Given the description of an element on the screen output the (x, y) to click on. 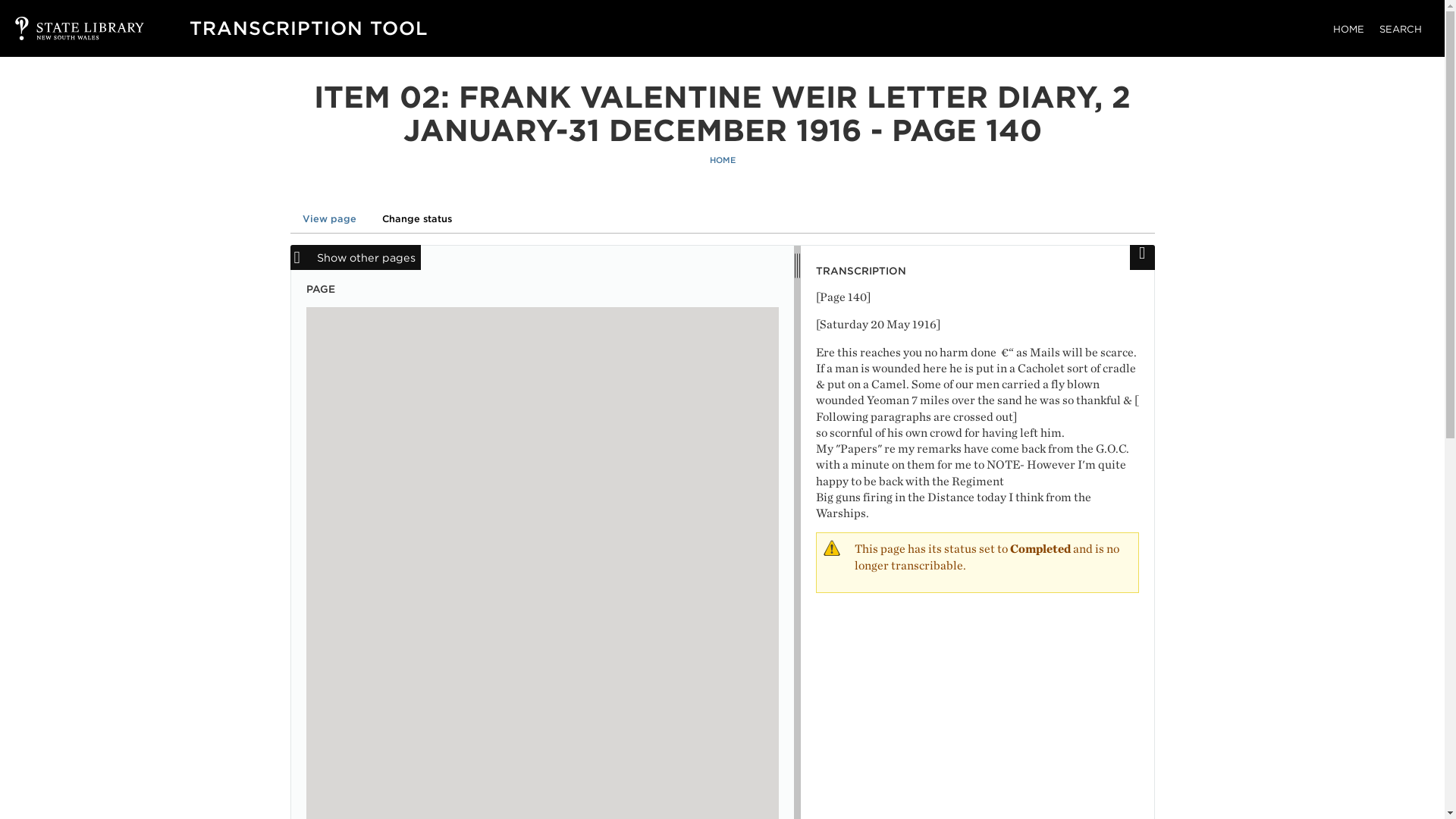
State Library of NSW (64, 28)
Home (308, 27)
View page (328, 218)
HOME (722, 160)
Change status (416, 218)
SEARCH (1400, 29)
HOME (1348, 29)
TRANSCRIPTION TOOL (308, 27)
